Given the description of an element on the screen output the (x, y) to click on. 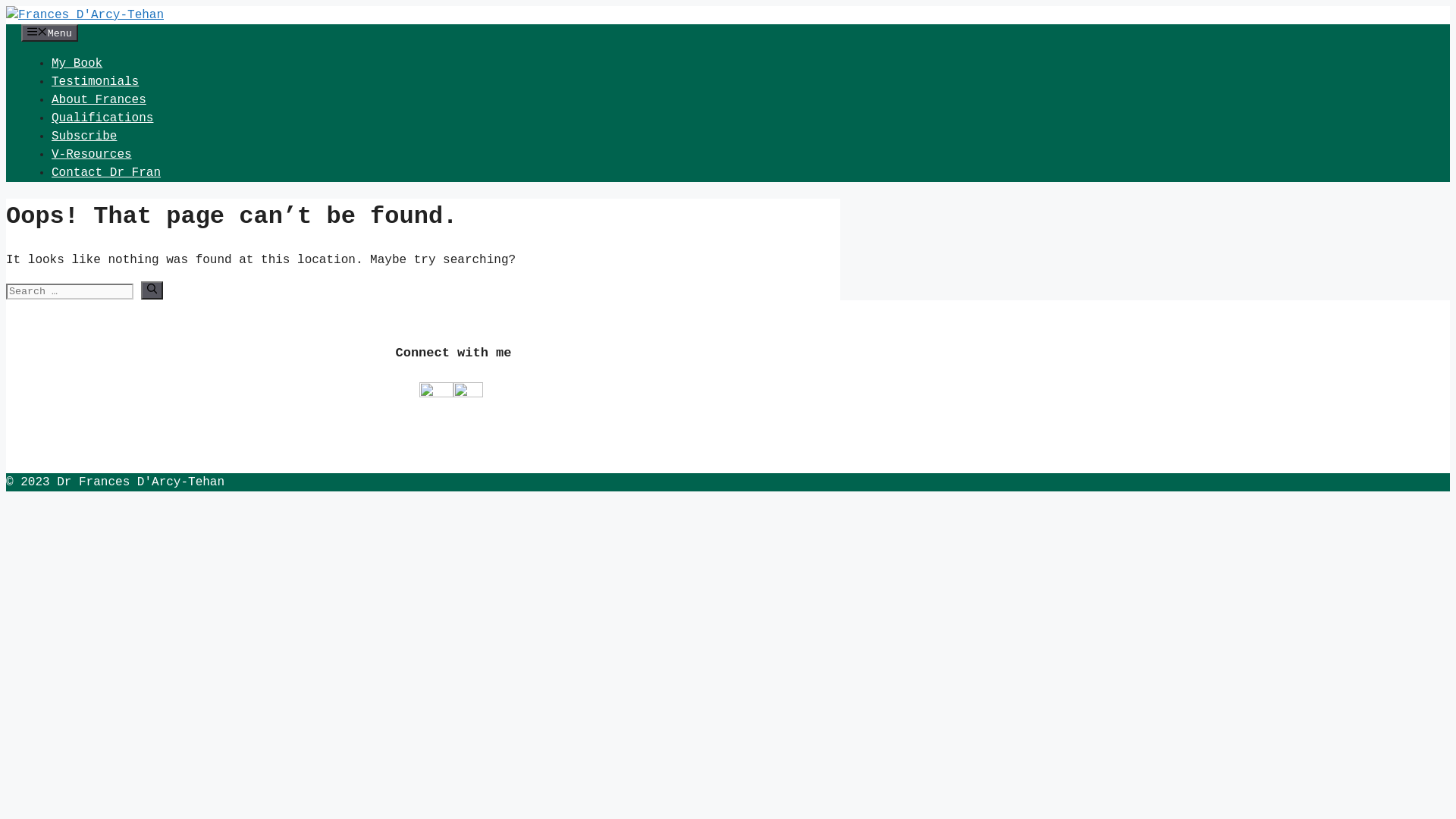
Testimonials Element type: text (94, 81)
About Frances Element type: text (98, 99)
Qualifications Element type: text (102, 118)
Skip to content Element type: text (5, 5)
Subscribe Element type: text (83, 136)
Contact Dr Fran Element type: text (105, 172)
My Book Element type: text (76, 63)
Menu Element type: text (49, 32)
V-Resources Element type: text (91, 154)
Search for: Element type: hover (69, 291)
